Given the description of an element on the screen output the (x, y) to click on. 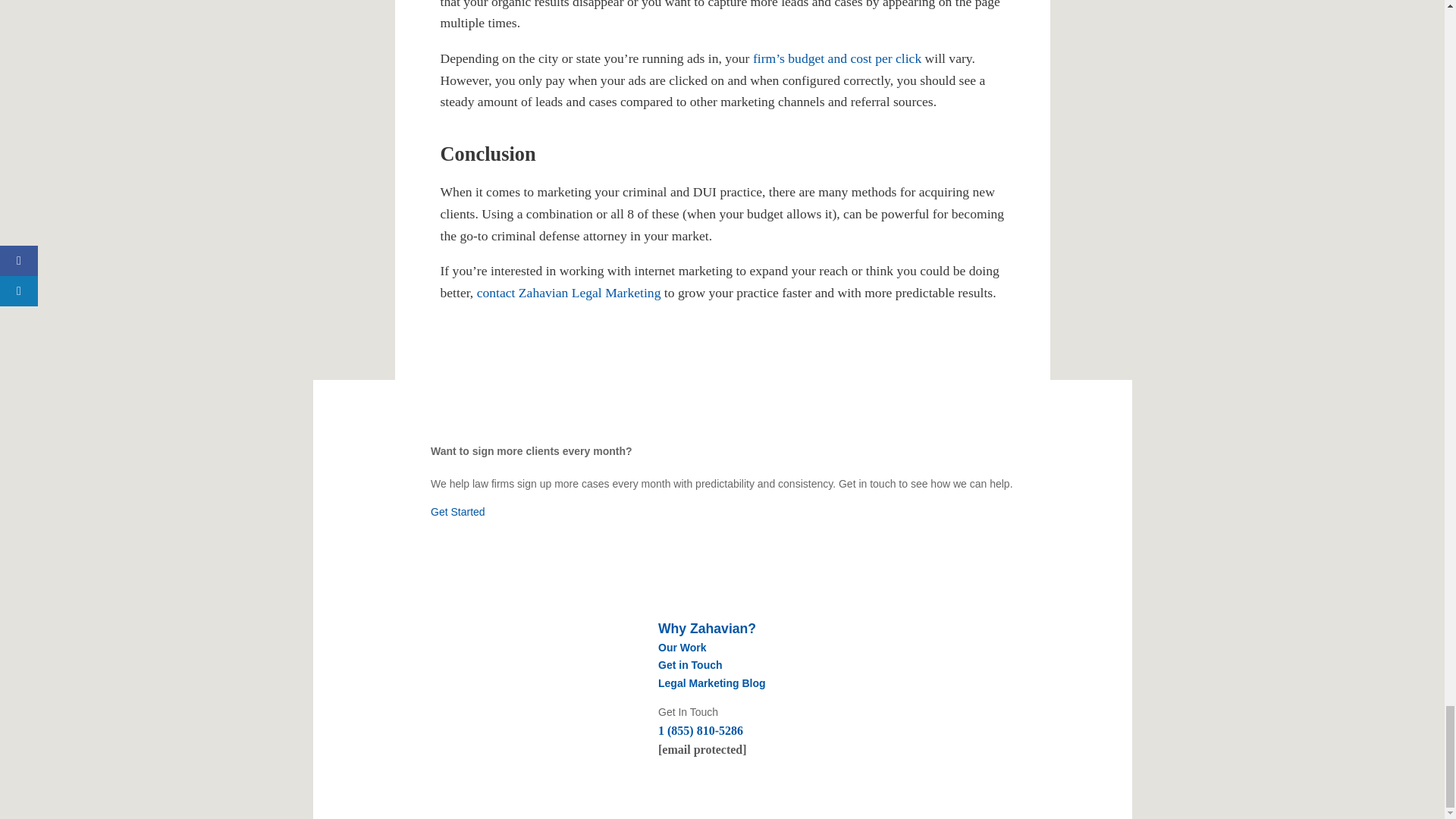
Get in Touch (690, 664)
Why Zahavian? (706, 628)
Legal Marketing Blog (711, 683)
Get Started (457, 511)
Our Work (682, 647)
contact Zahavian Legal Marketing (569, 292)
